Given the description of an element on the screen output the (x, y) to click on. 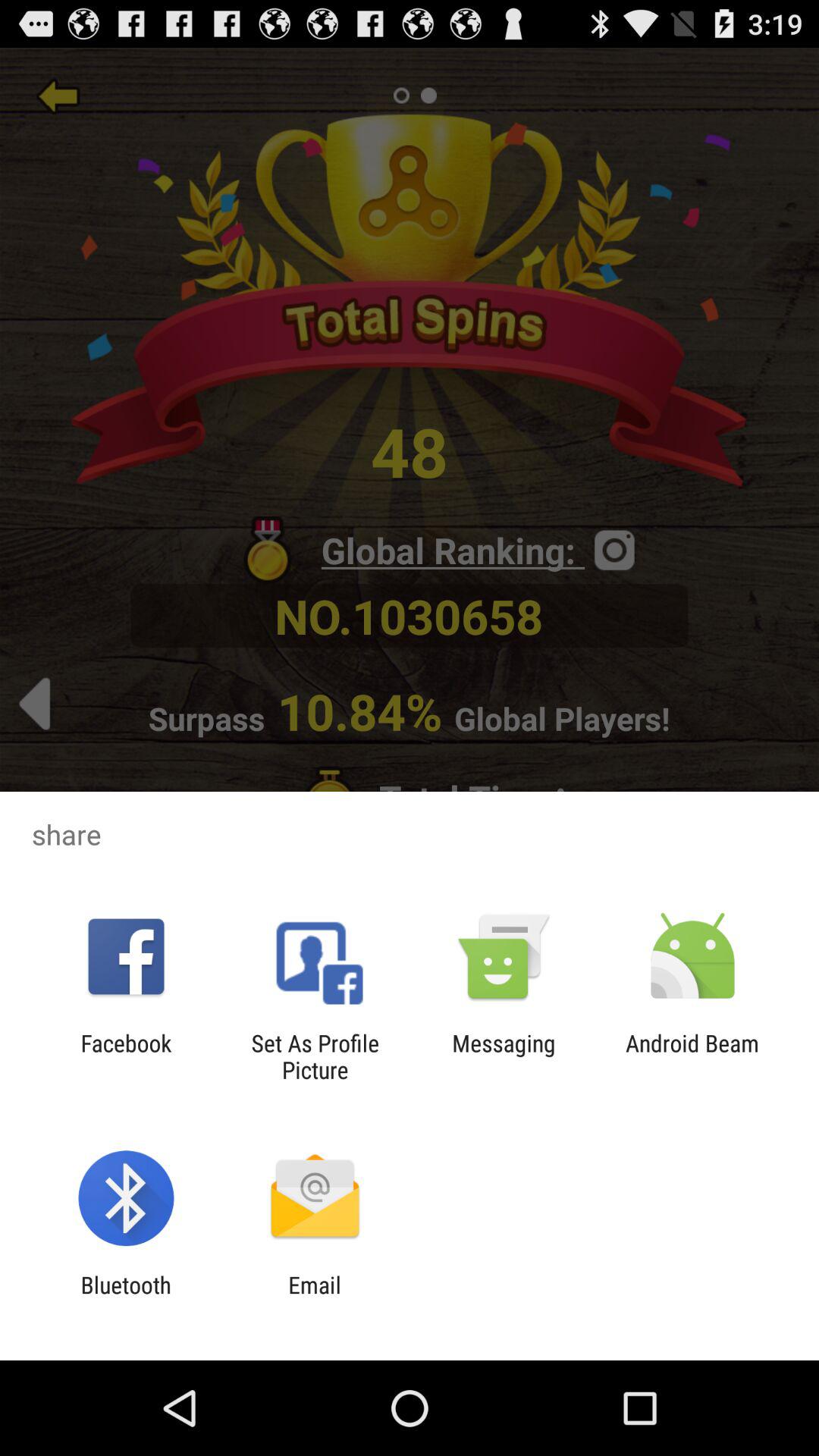
scroll to the bluetooth app (125, 1298)
